Given the description of an element on the screen output the (x, y) to click on. 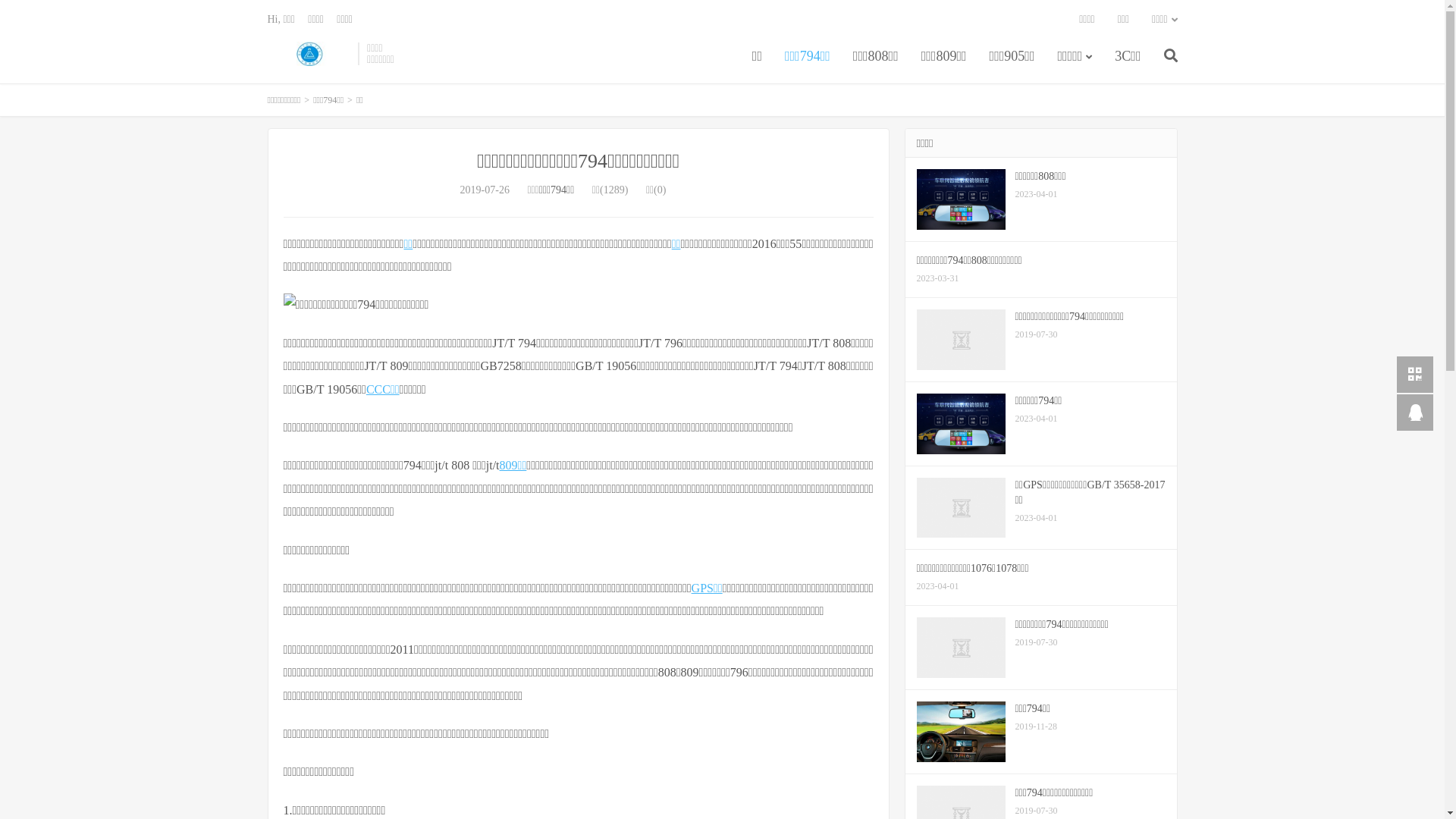
GPS Element type: text (702, 587)
